Given the description of an element on the screen output the (x, y) to click on. 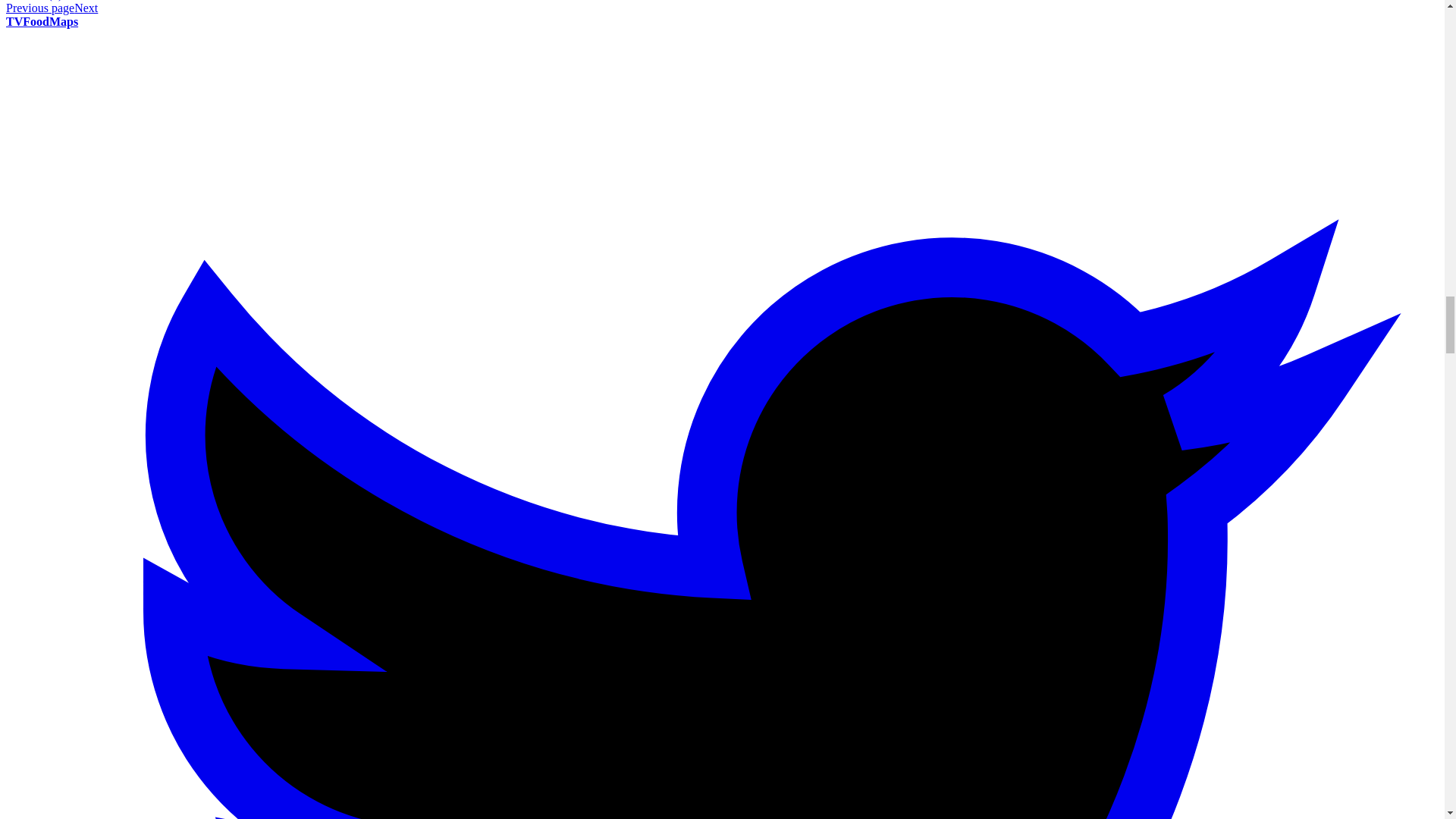
Previous page (39, 7)
Next (85, 7)
TVFoodMaps (41, 21)
